Given the description of an element on the screen output the (x, y) to click on. 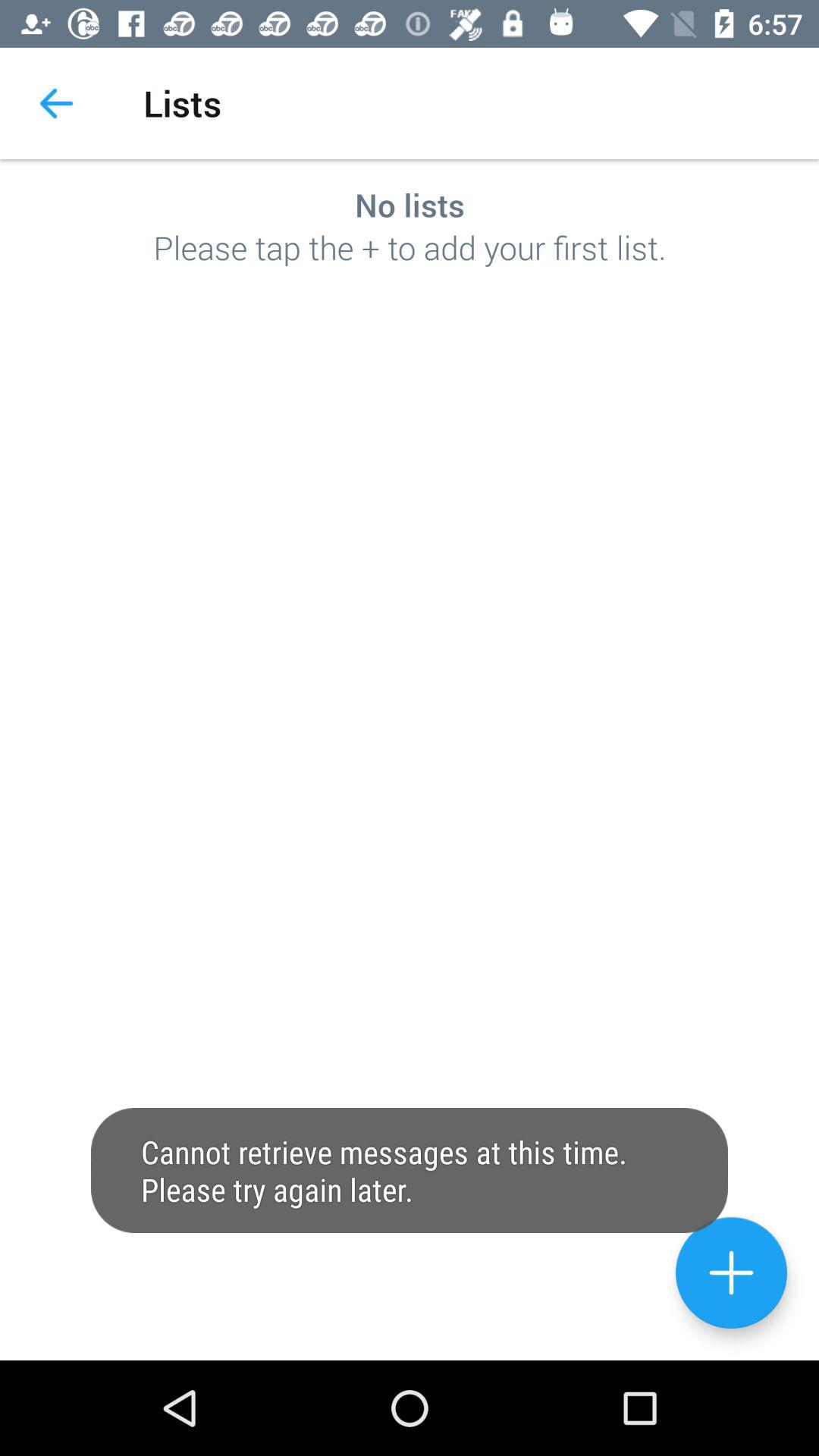
go to add option (731, 1272)
